Given the description of an element on the screen output the (x, y) to click on. 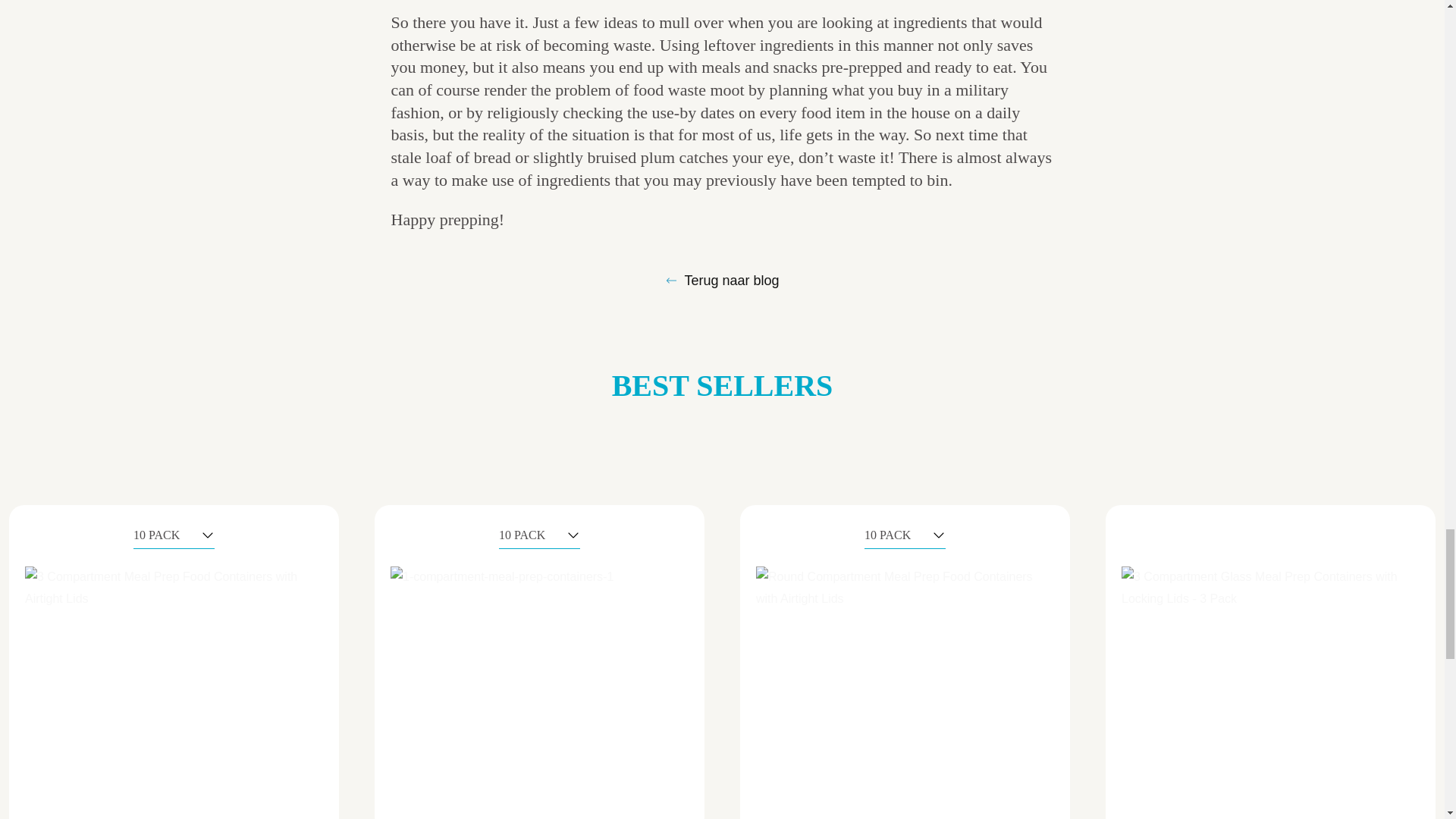
Product link (904, 662)
Product link (539, 662)
Product link (1270, 662)
Product link (172, 662)
